Given the description of an element on the screen output the (x, y) to click on. 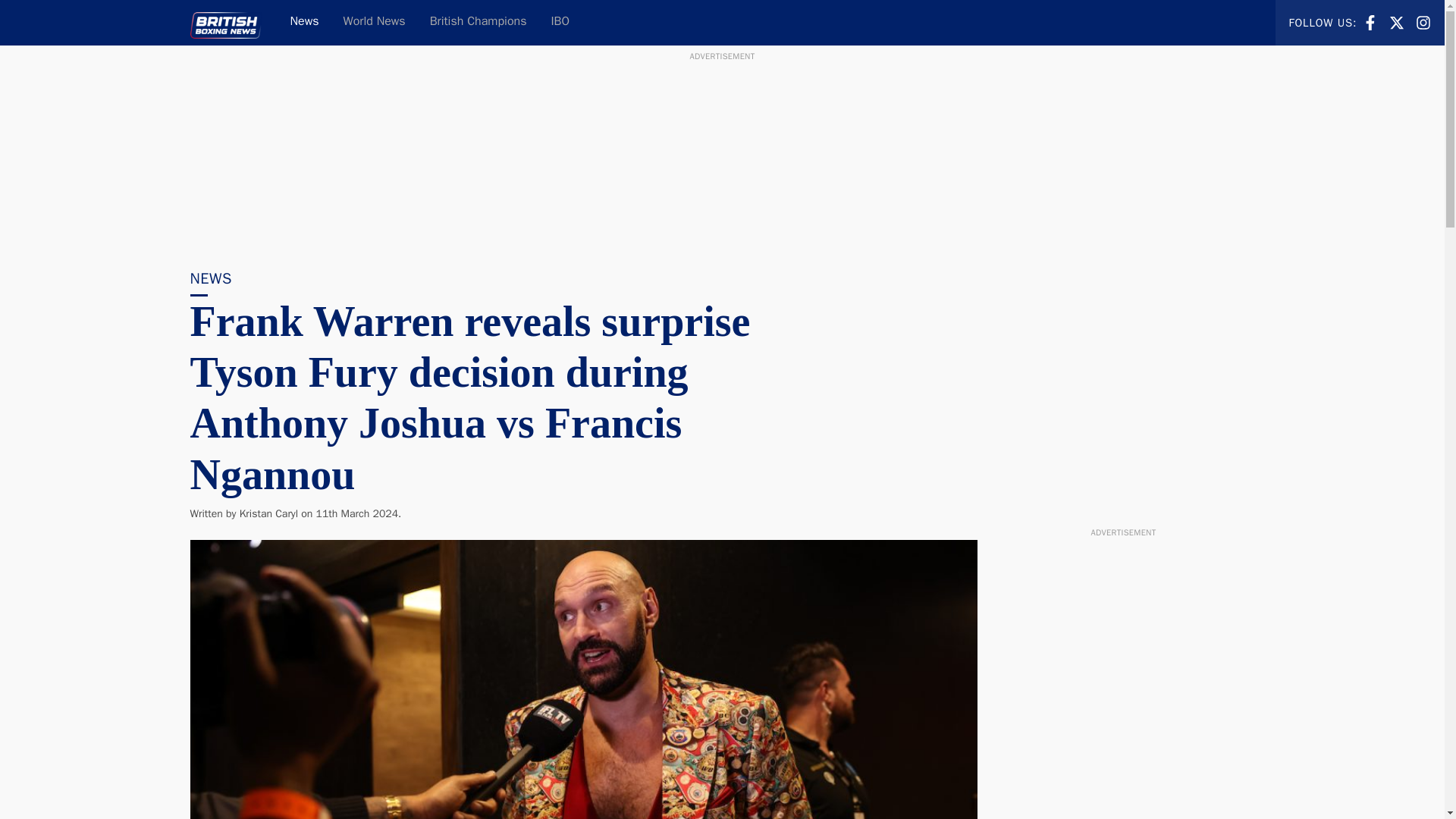
News (304, 22)
IBO (1397, 21)
British Champions (559, 22)
FACEBOOK (477, 22)
Kristan Caryl (1369, 22)
INSTAGRAM (1423, 21)
World News (1369, 21)
